Given the description of an element on the screen output the (x, y) to click on. 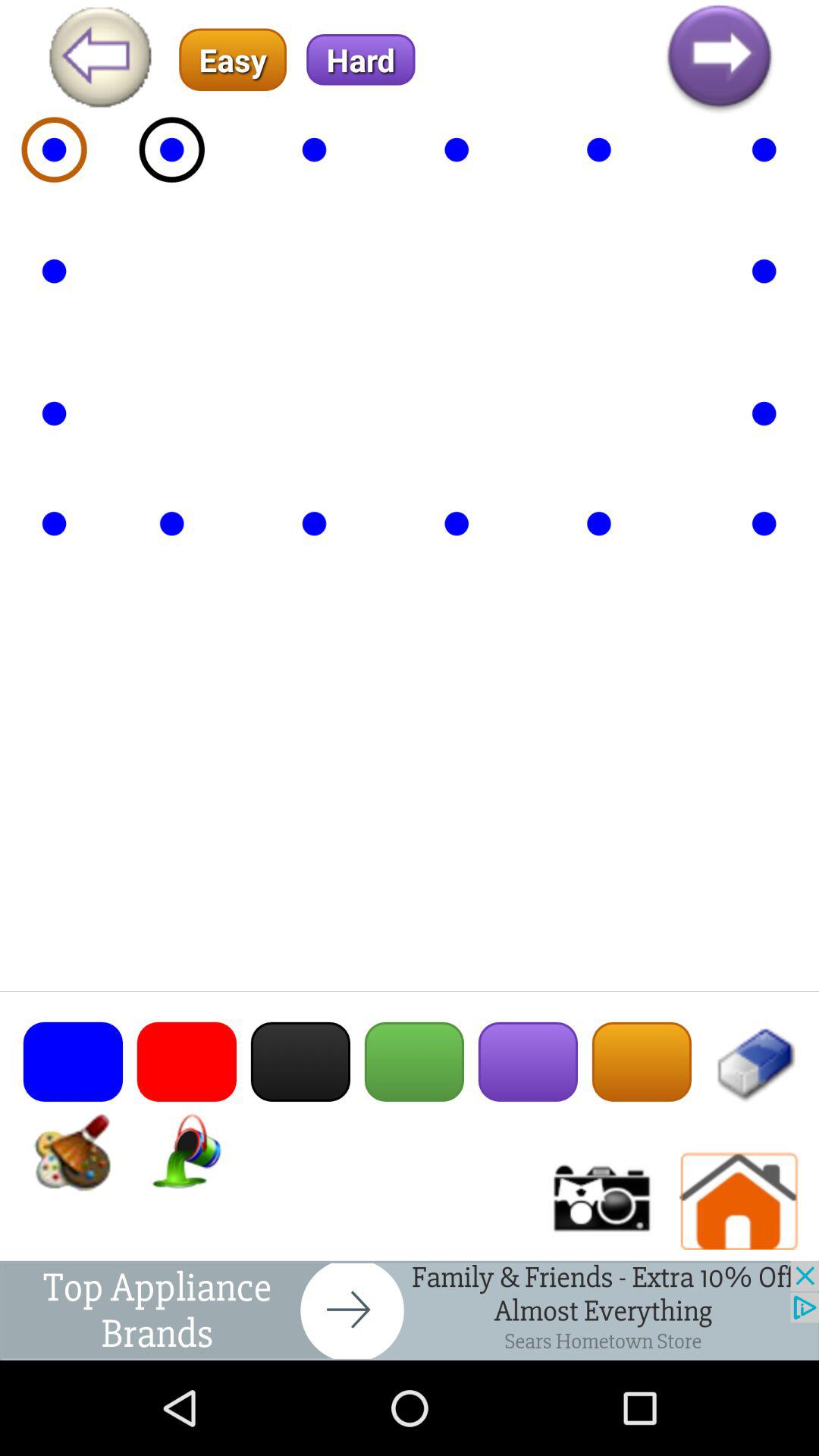
to go to home page (739, 1200)
